Given the description of an element on the screen output the (x, y) to click on. 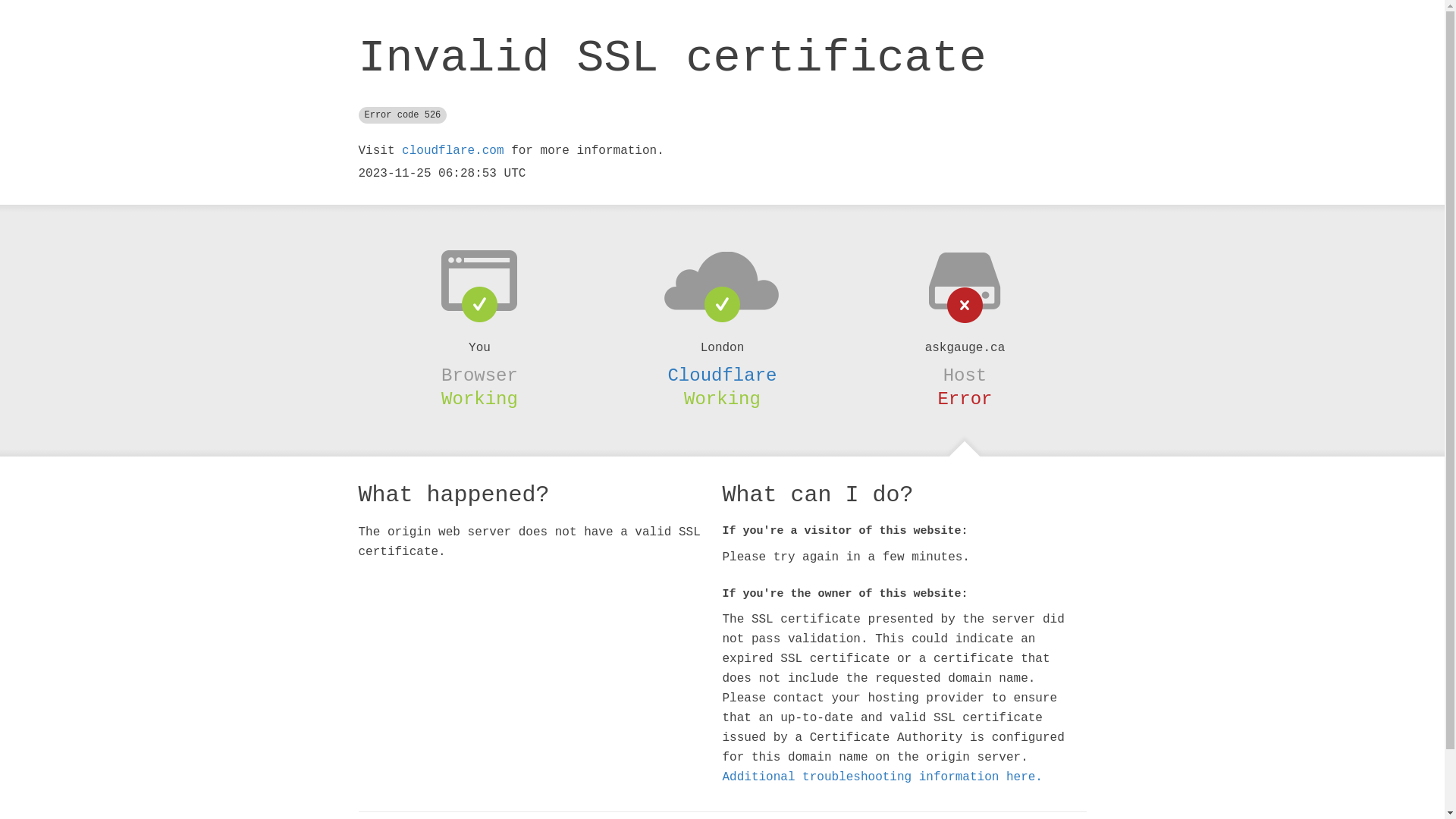
cloudflare.com Element type: text (452, 150)
Cloudflare Element type: text (721, 375)
Additional troubleshooting information here. Element type: text (881, 777)
